Given the description of an element on the screen output the (x, y) to click on. 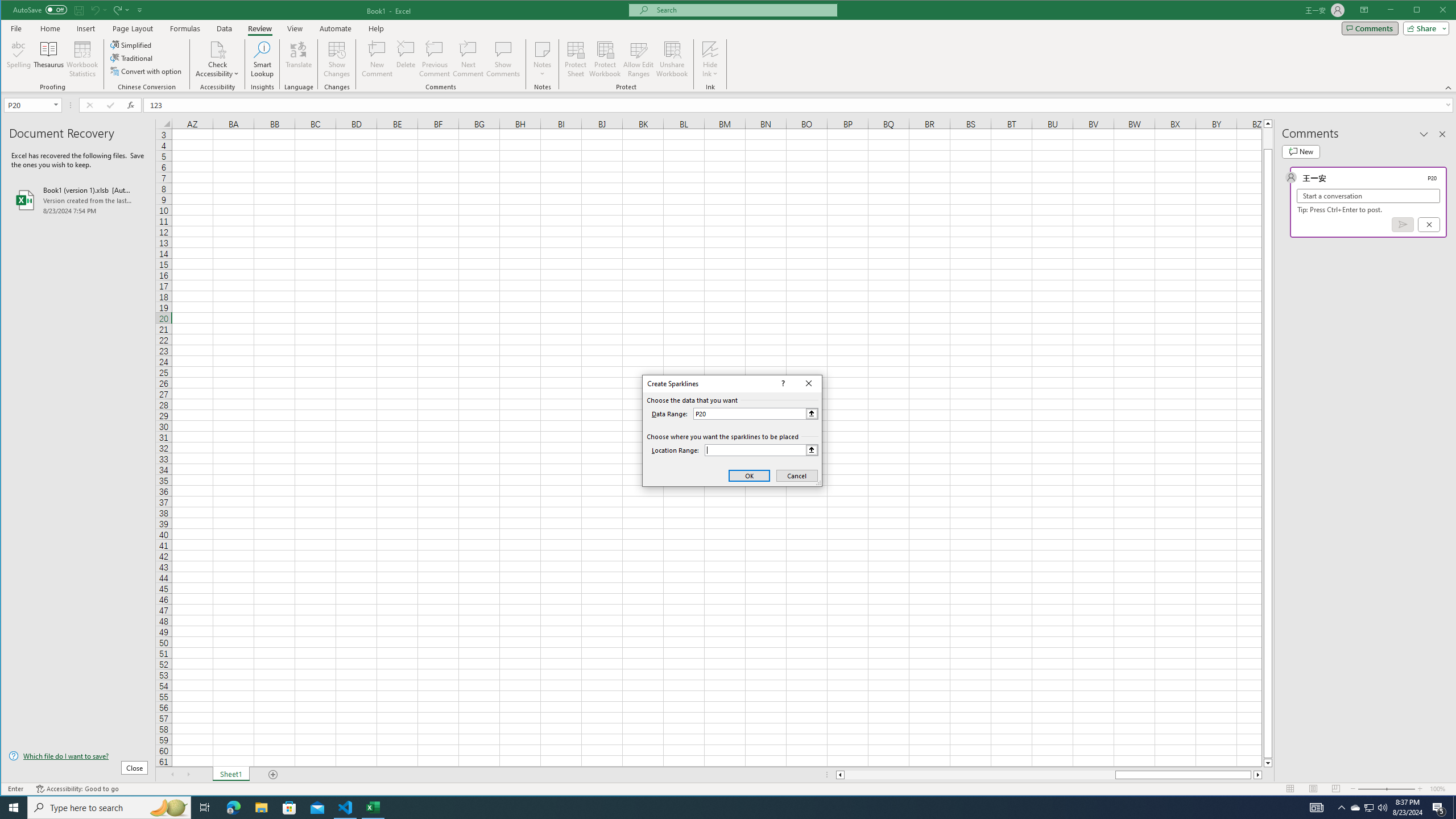
Which file do I want to save? (78, 755)
Protect Workbook... (604, 59)
File Explorer (261, 807)
Thesaurus... (48, 59)
Notes (541, 59)
Simplified (132, 44)
Cancel (797, 475)
AutomationID: 4105 (1316, 807)
Start a conversation (1368, 195)
Protect Sheet... (575, 59)
